Given the description of an element on the screen output the (x, y) to click on. 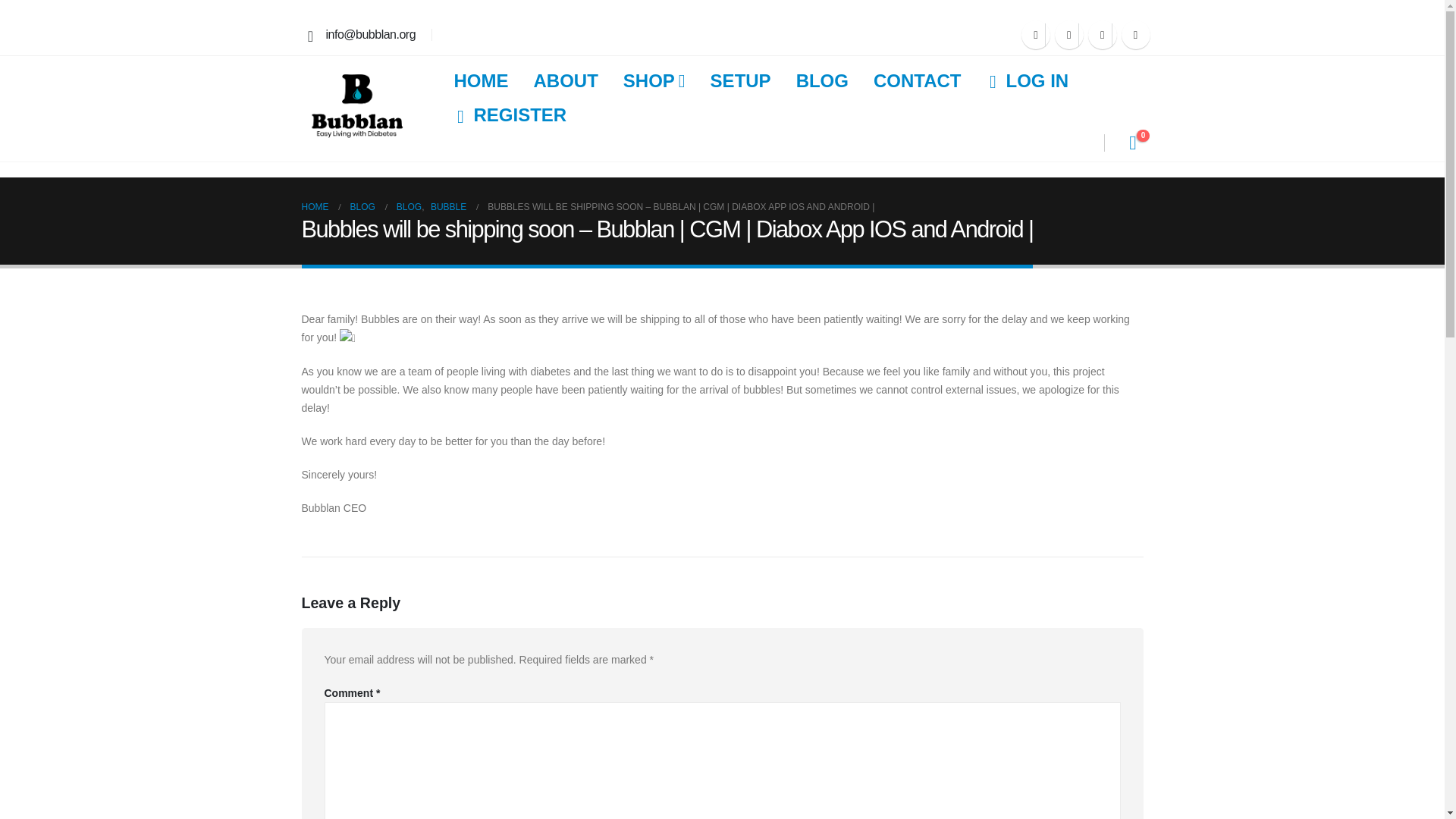
BLOG (822, 80)
BLOG (409, 207)
BLOG (362, 207)
Go to Home Page (315, 207)
Youtube (1068, 34)
BUBBLE (447, 207)
LOG IN (1027, 81)
Instagram (1101, 34)
HOME (480, 80)
Facebook (1035, 34)
